Given the description of an element on the screen output the (x, y) to click on. 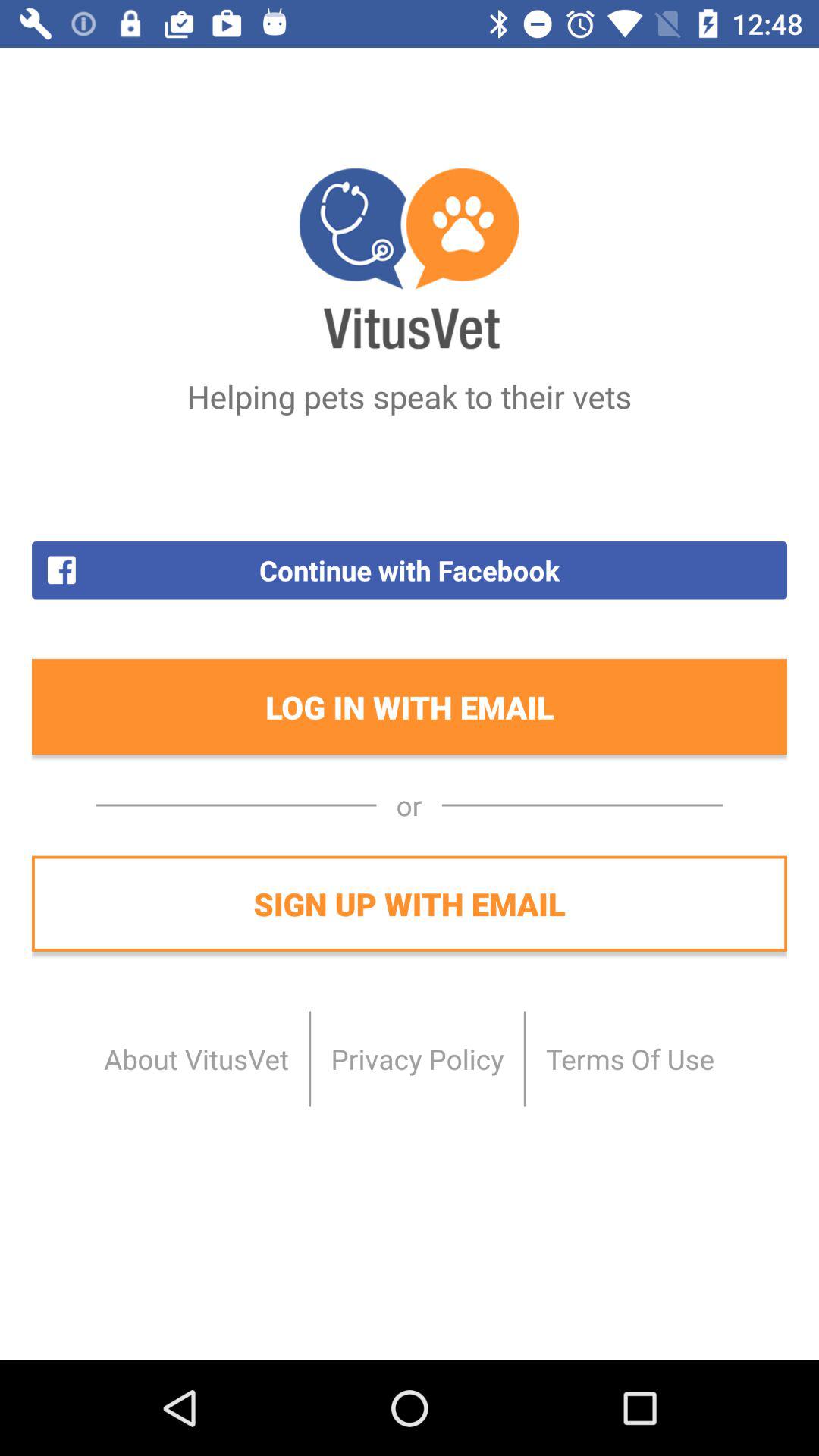
press the item below the helping pets speak (409, 570)
